Given the description of an element on the screen output the (x, y) to click on. 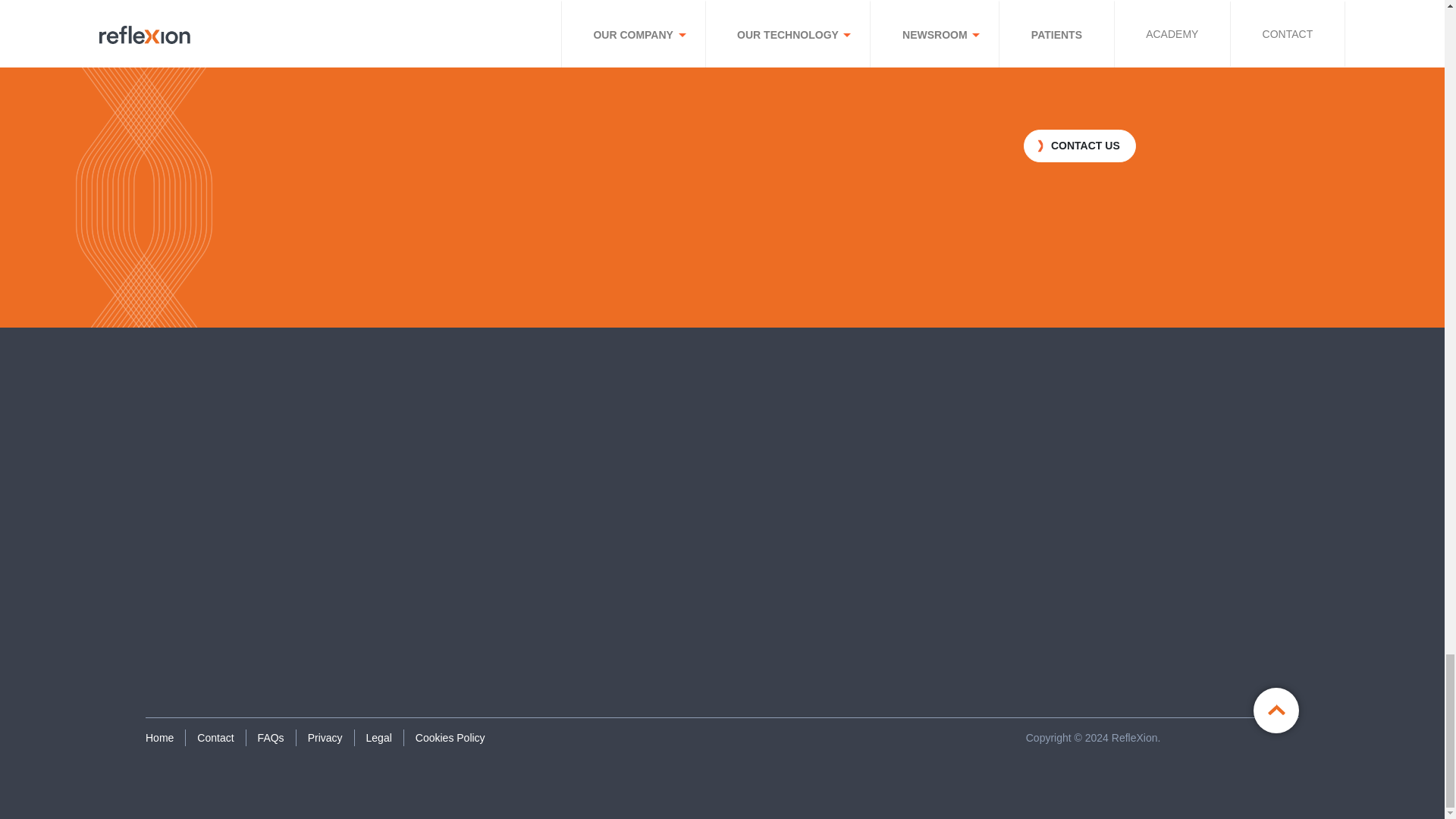
Scroll to Top (1275, 710)
